Given the description of an element on the screen output the (x, y) to click on. 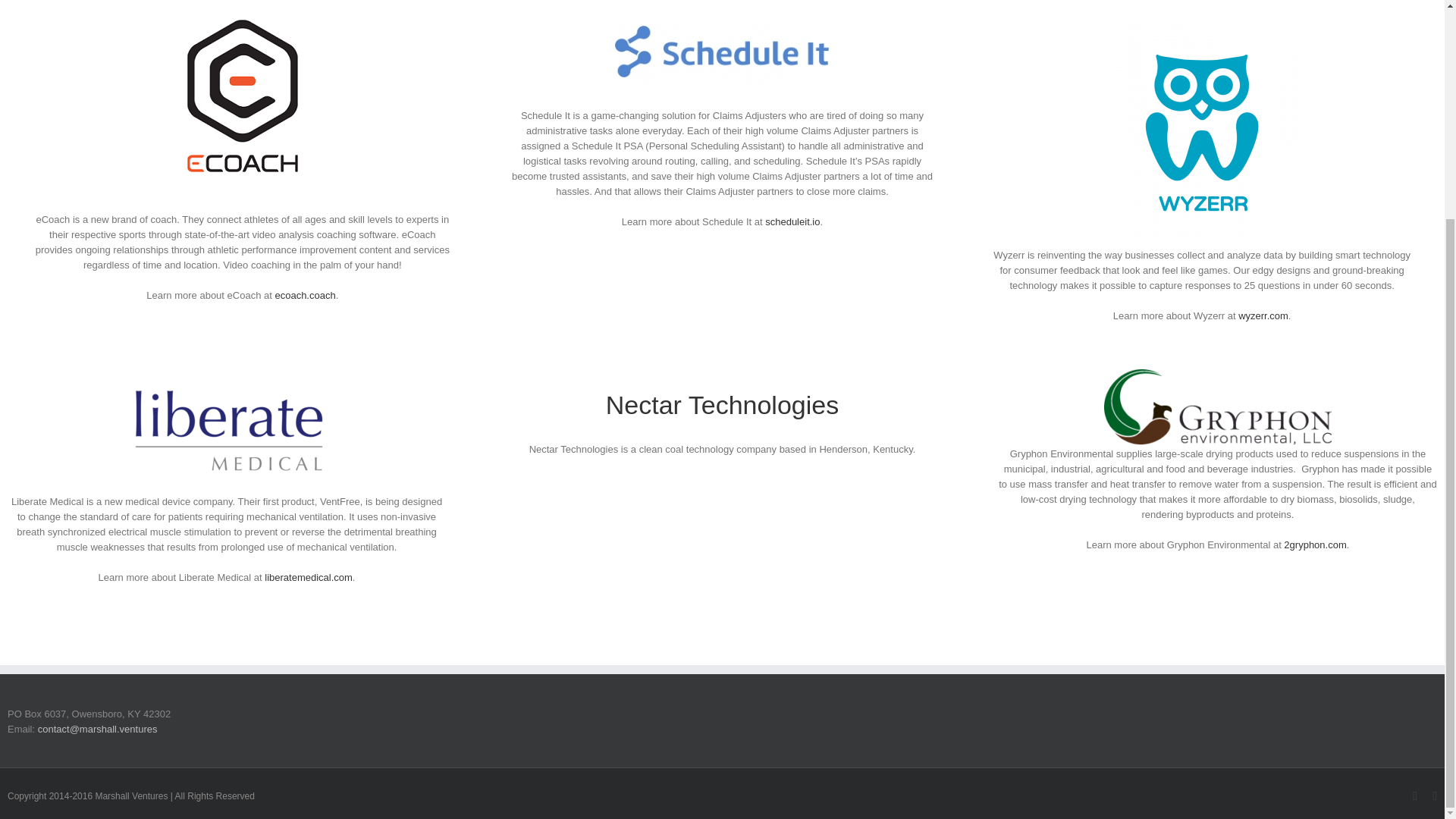
wyzerr.com (1263, 315)
2gryphon.com (1314, 544)
ecoach.coach (304, 295)
liberatemedical.com (308, 577)
scheduleit.io (792, 221)
